Given the description of an element on the screen output the (x, y) to click on. 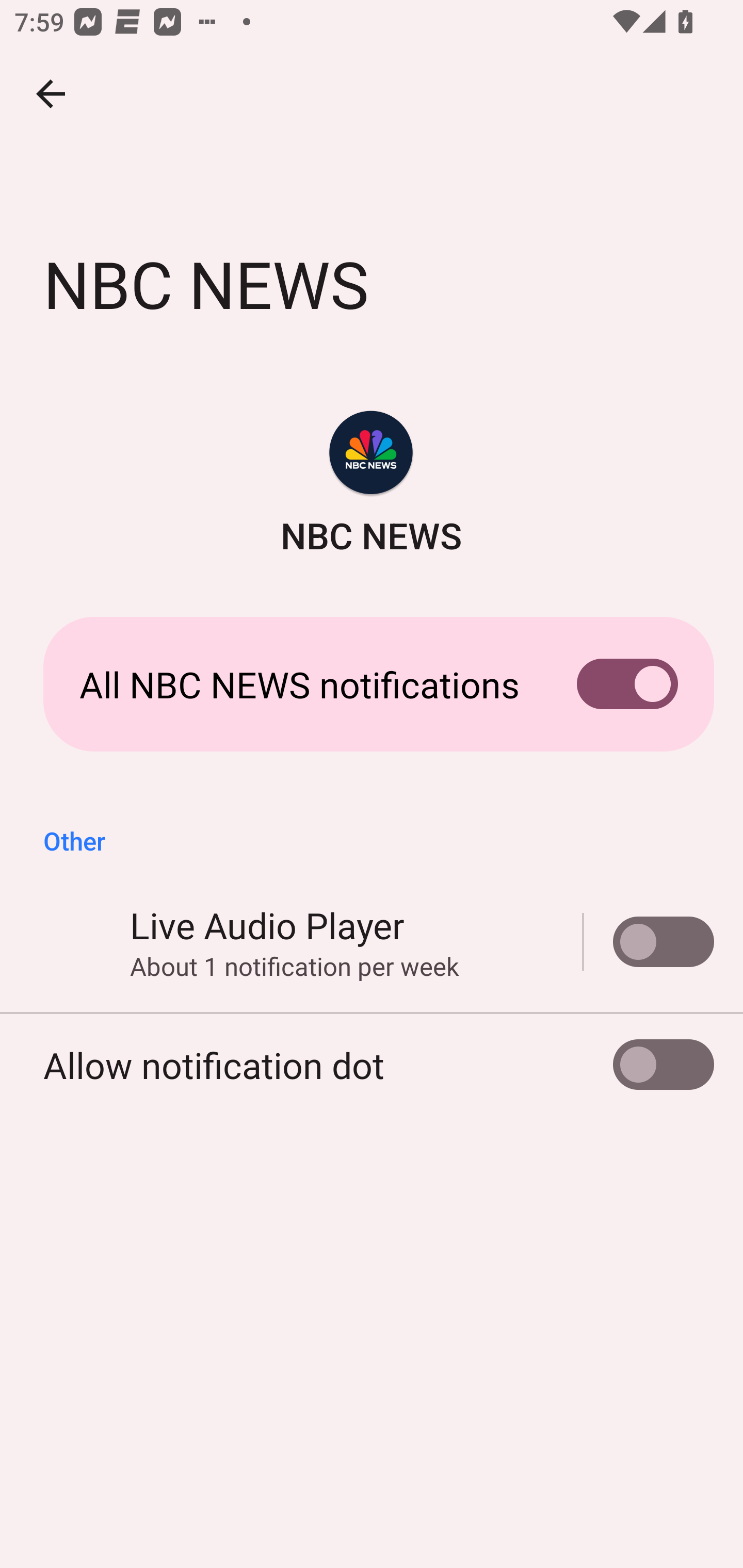
Navigate up (50, 93)
NBC NEWS (371, 484)
All NBC NEWS notifications (371, 684)
All NBC NEWS notifications (371, 684)
Live Audio Player (648, 941)
Allow notification dot (371, 1064)
